Given the description of an element on the screen output the (x, y) to click on. 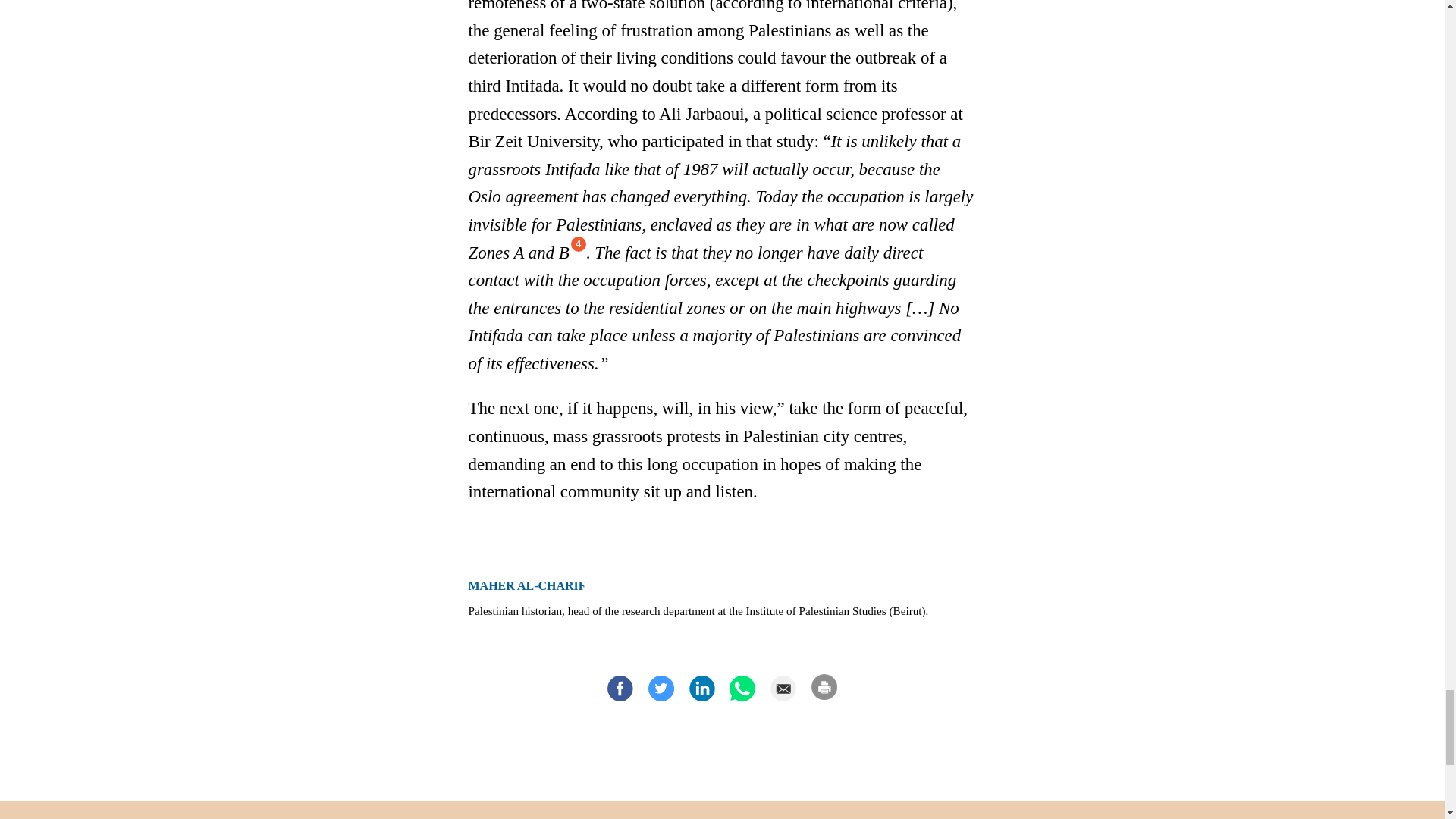
Mail (782, 688)
Imprimer (823, 686)
Whatsapp (742, 688)
LinkedIn (701, 688)
Twitter (660, 688)
Facebook (619, 688)
